Given the description of an element on the screen output the (x, y) to click on. 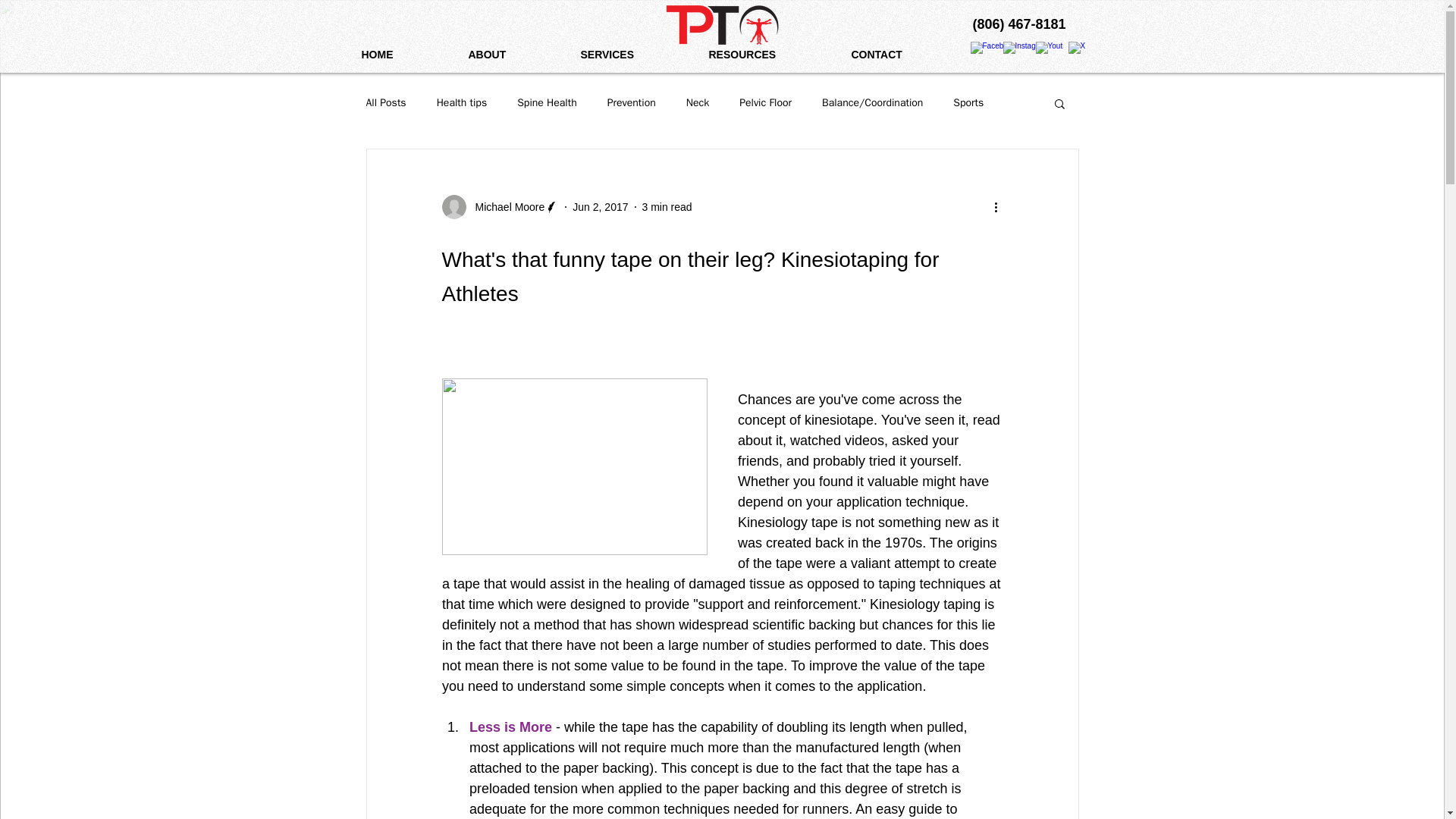
3 min read (666, 205)
Michael Moore (504, 206)
SERVICES (633, 54)
Jun 2, 2017 (599, 205)
Neck (697, 102)
Spine Health (546, 102)
Pelvic Floor (765, 102)
Health tips (461, 102)
HOME (403, 54)
Sports (968, 102)
